Given the description of an element on the screen output the (x, y) to click on. 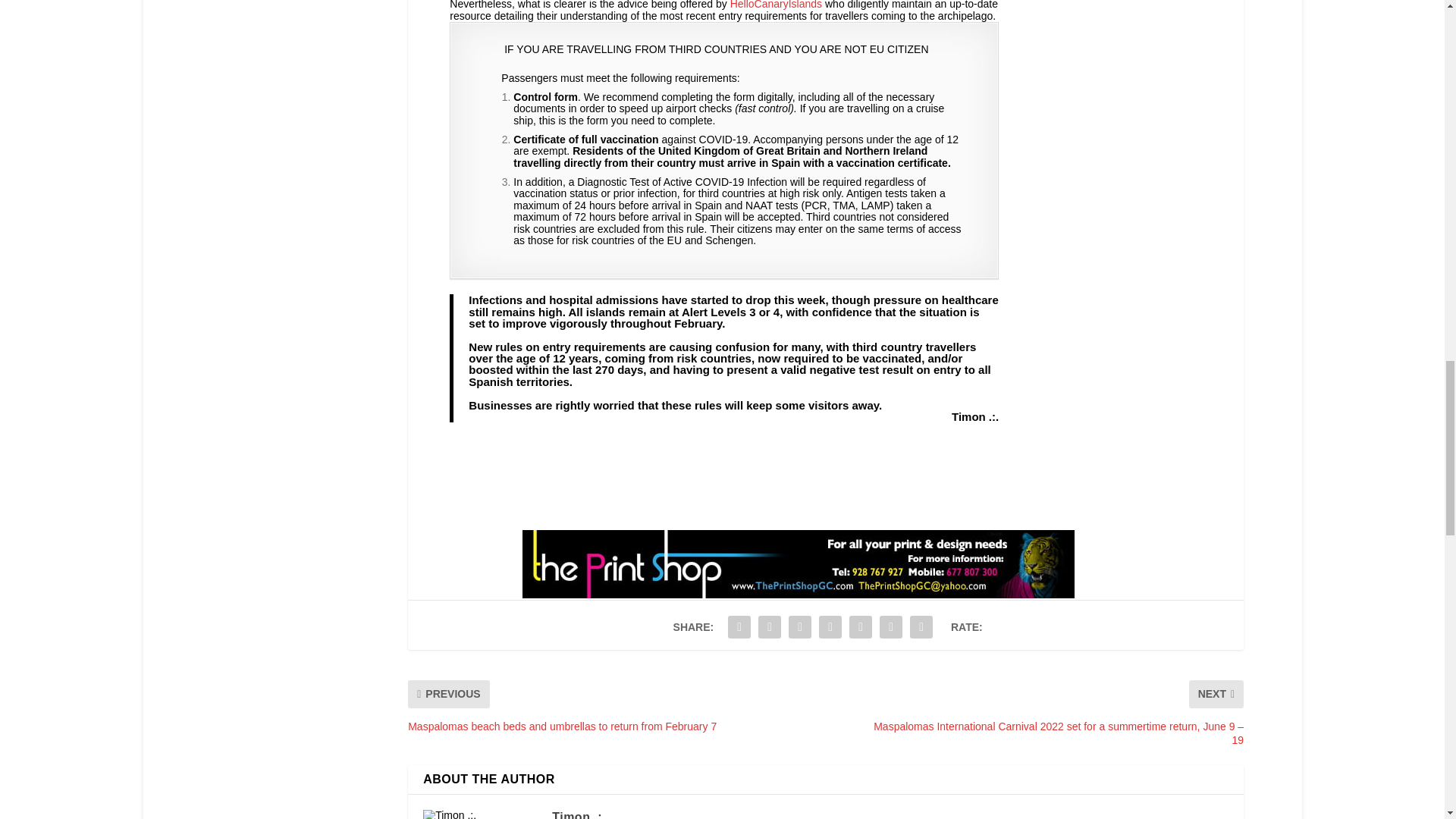
this (547, 120)
Control form (545, 96)
HelloCanaryIslands (776, 4)
